Given the description of an element on the screen output the (x, y) to click on. 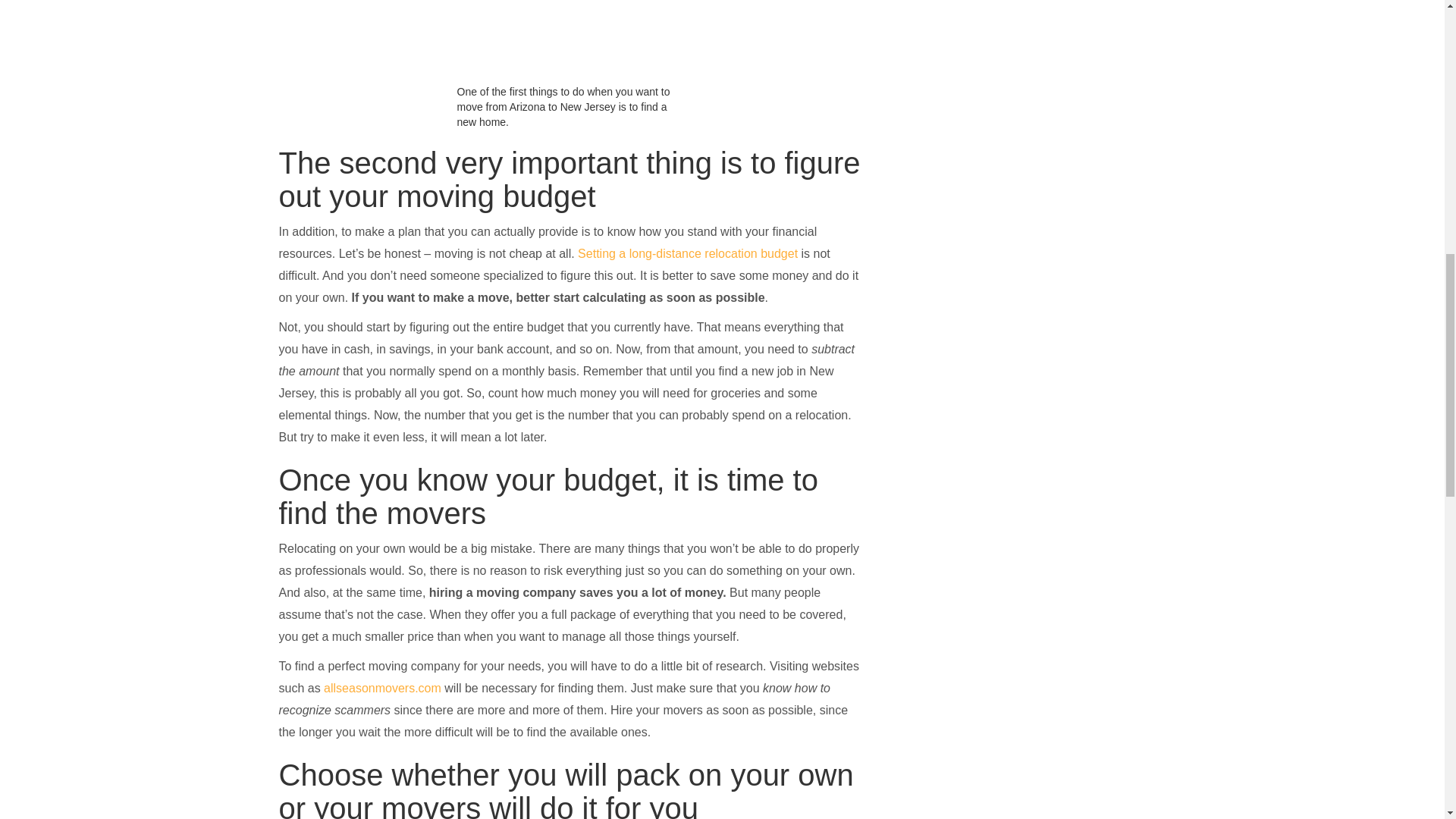
Setting a long-distance relocation budget (687, 253)
allseasonmovers.com (382, 687)
